Given the description of an element on the screen output the (x, y) to click on. 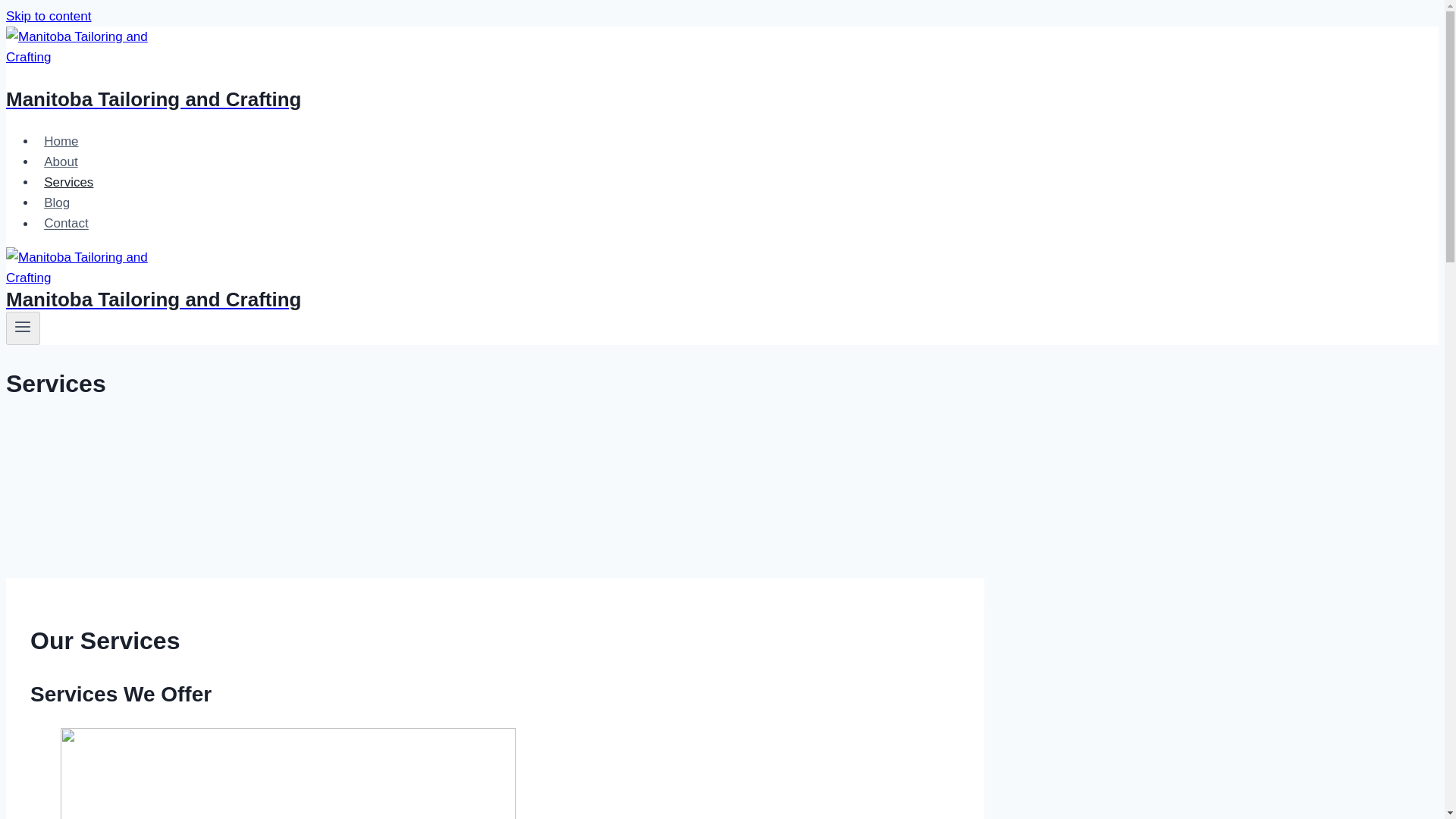
Home (60, 141)
Contact (66, 223)
Blog (56, 202)
Toggle Menu (22, 328)
Skip to content (47, 16)
Services (68, 182)
Manitoba Tailoring and Crafting (494, 79)
Skip to content (47, 16)
Toggle Menu (22, 326)
Manitoba Tailoring and Crafting (494, 291)
